Given the description of an element on the screen output the (x, y) to click on. 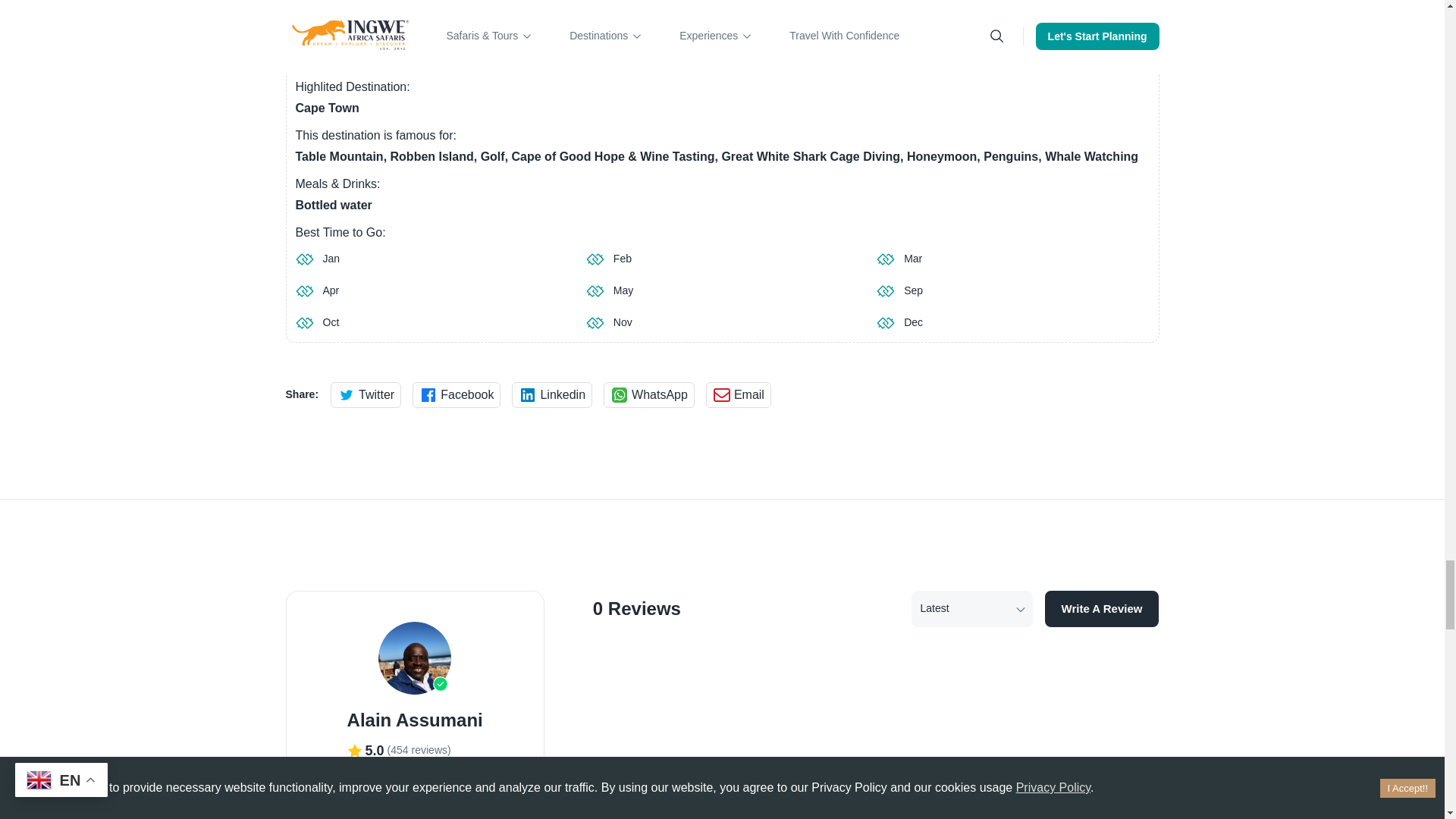
Facebook (456, 394)
Email (738, 394)
Linkedin (552, 394)
Twitter (365, 394)
WhatsApp (649, 394)
Write A Review (1101, 608)
